Given the description of an element on the screen output the (x, y) to click on. 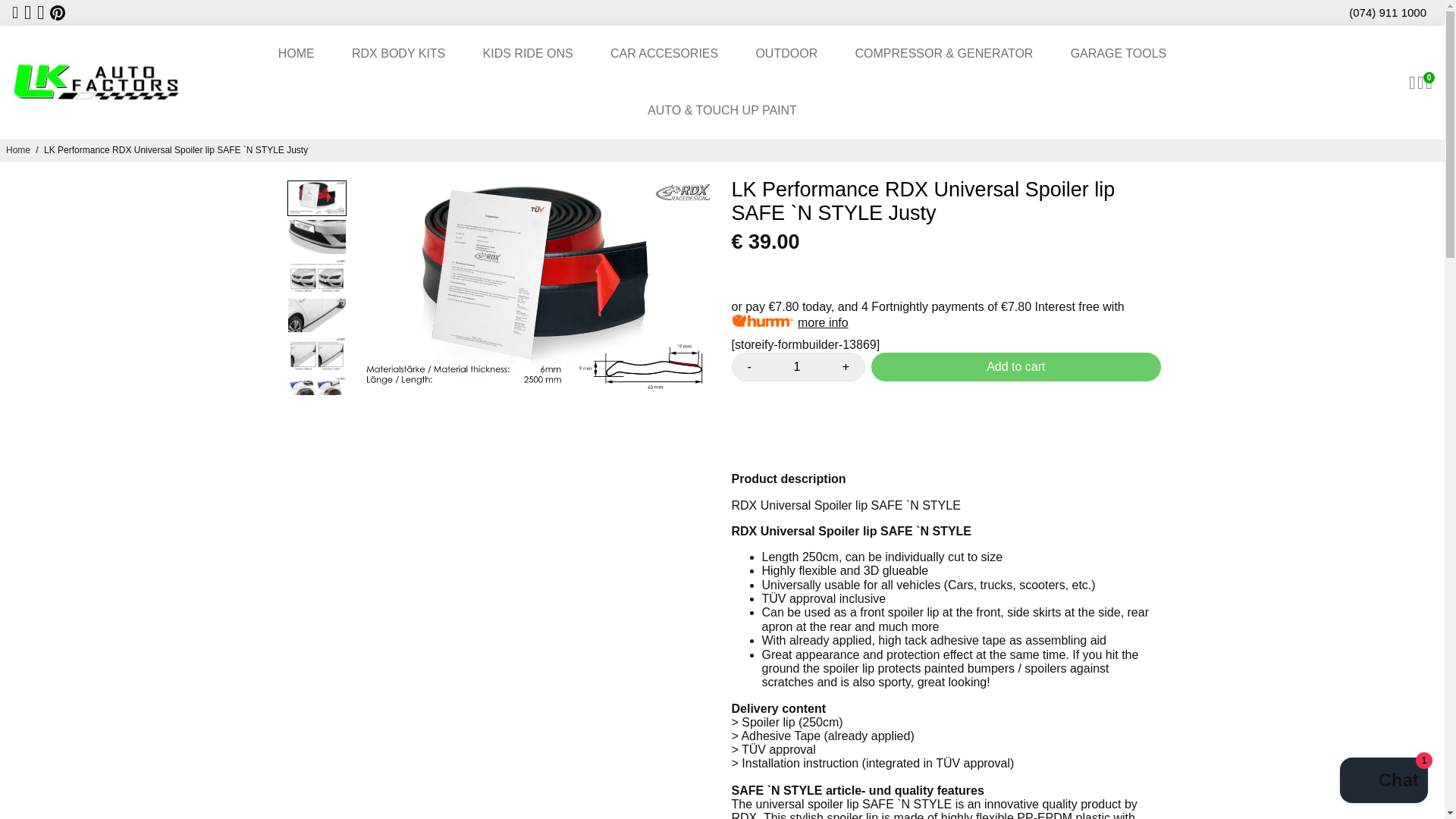
1 (797, 366)
CAR ACCESORIES (664, 53)
Home (17, 149)
KIDS RIDE ONS (527, 53)
OUTDOOR (785, 53)
HOME (296, 53)
GARAGE TOOLS (1118, 53)
RDX BODY KITS (398, 53)
Shopify online store chat (1383, 781)
